Given the description of an element on the screen output the (x, y) to click on. 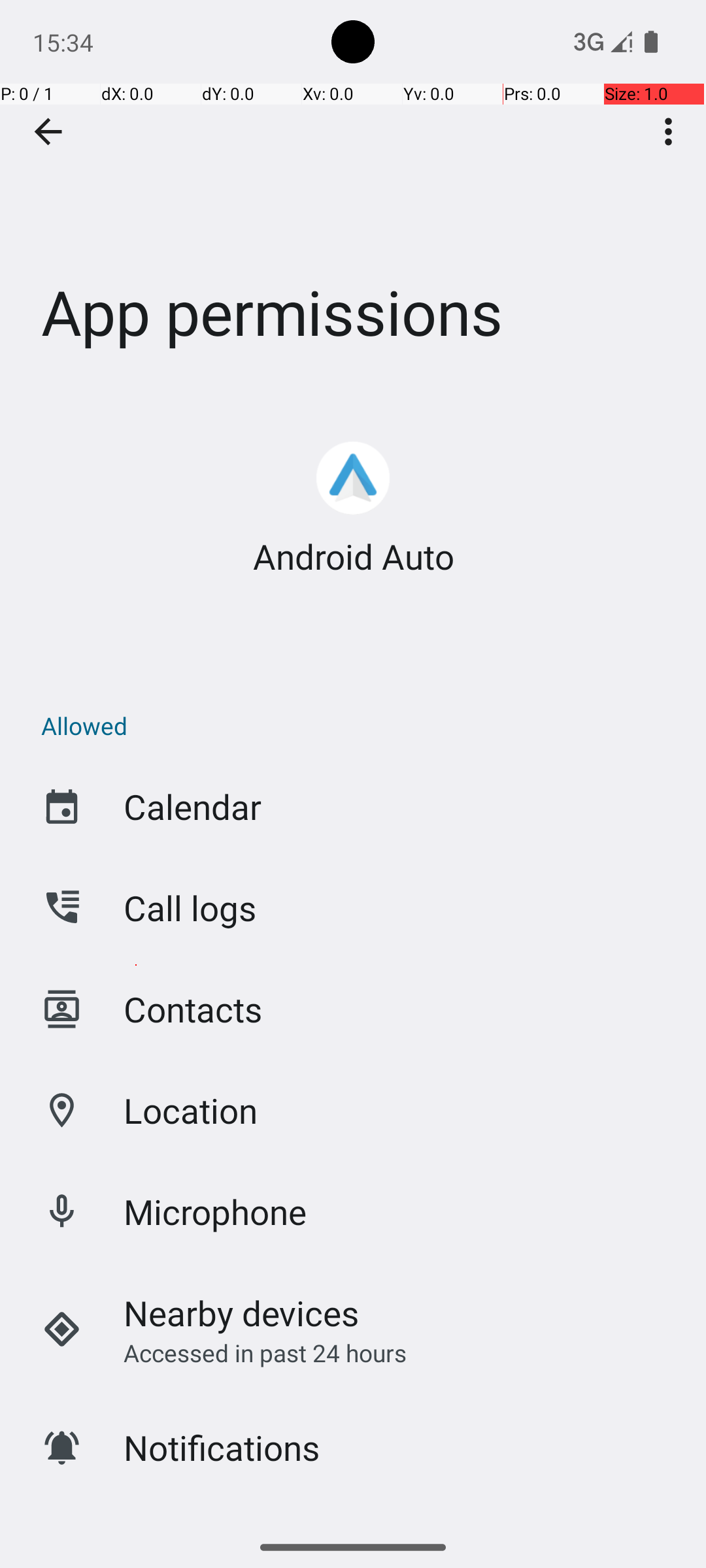
App permissions Element type: android.widget.FrameLayout (353, 195)
Android Auto Element type: android.widget.TextView (352, 556)
Allowed Element type: android.widget.TextView (359, 725)
Call logs Element type: android.widget.TextView (189, 907)
Microphone Element type: android.widget.TextView (215, 1211)
Nearby devices Element type: android.widget.TextView (241, 1312)
Accessed in past 24 hours Element type: android.widget.TextView (264, 1352)
